Given the description of an element on the screen output the (x, y) to click on. 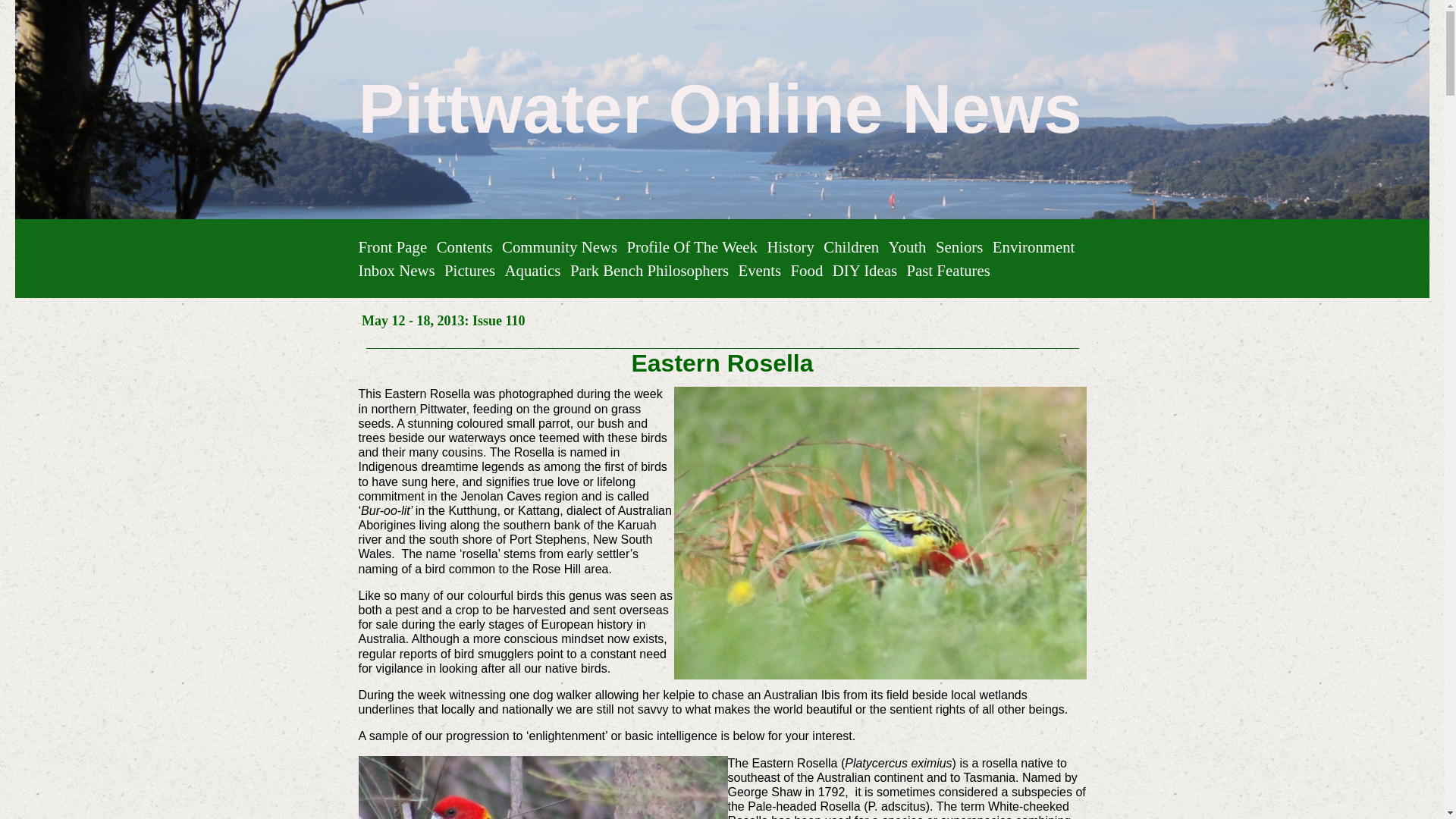
Front Page (392, 246)
History (790, 246)
Events (759, 270)
Contents (464, 246)
Food (807, 270)
Inbox News (395, 270)
Front Page (392, 246)
Past Features (947, 270)
Environment (1033, 246)
Park Bench Philosophers (649, 270)
